Given the description of an element on the screen output the (x, y) to click on. 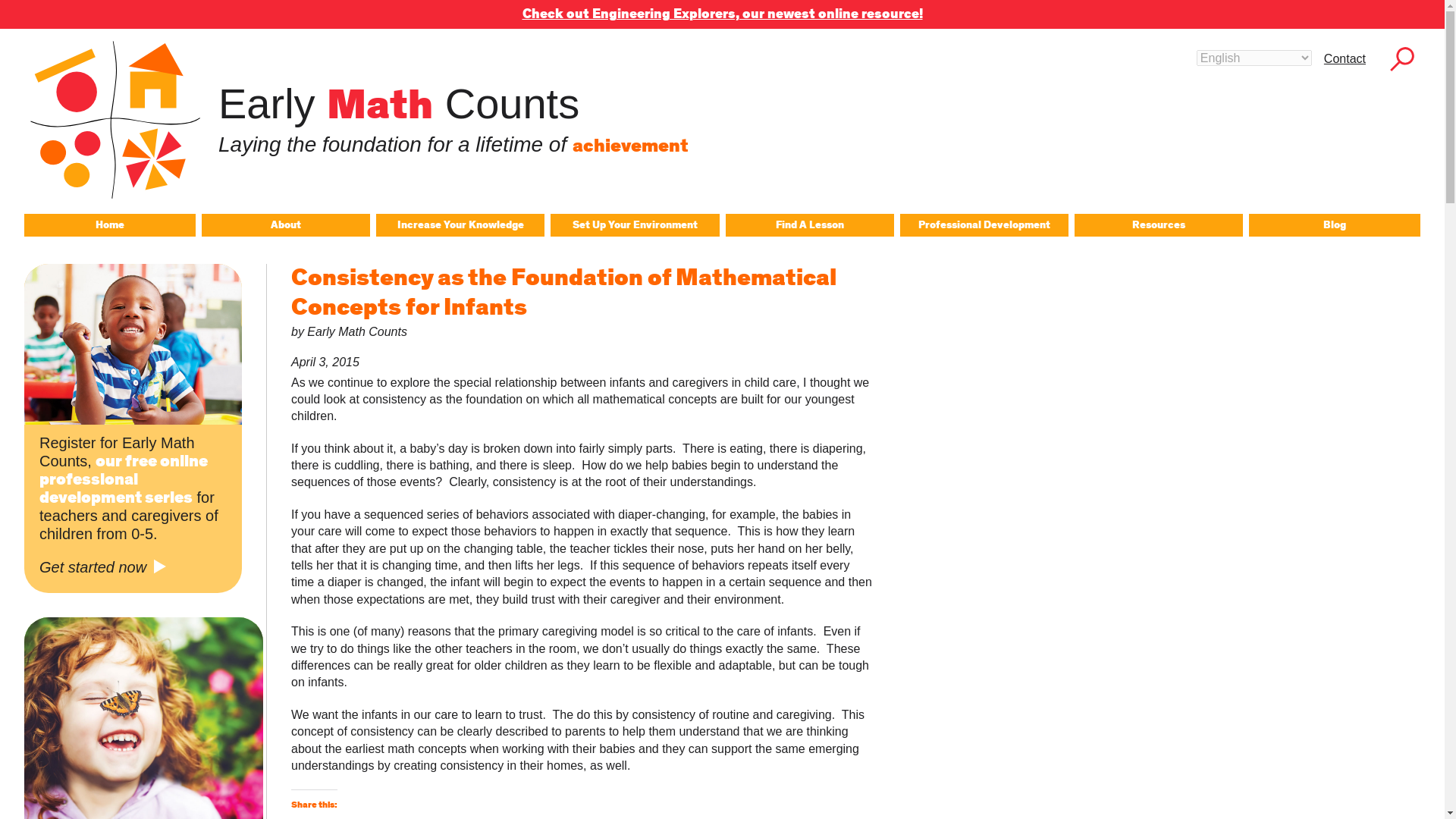
Home (109, 224)
Increase Your Knowledge (459, 224)
Check out Engineering Explorers, our newest online resource! (721, 13)
Contact (1344, 58)
Find A Lesson (809, 224)
Resources (1158, 224)
About (285, 224)
Professional Development (983, 224)
Set Up Your Environment (634, 224)
